Given the description of an element on the screen output the (x, y) to click on. 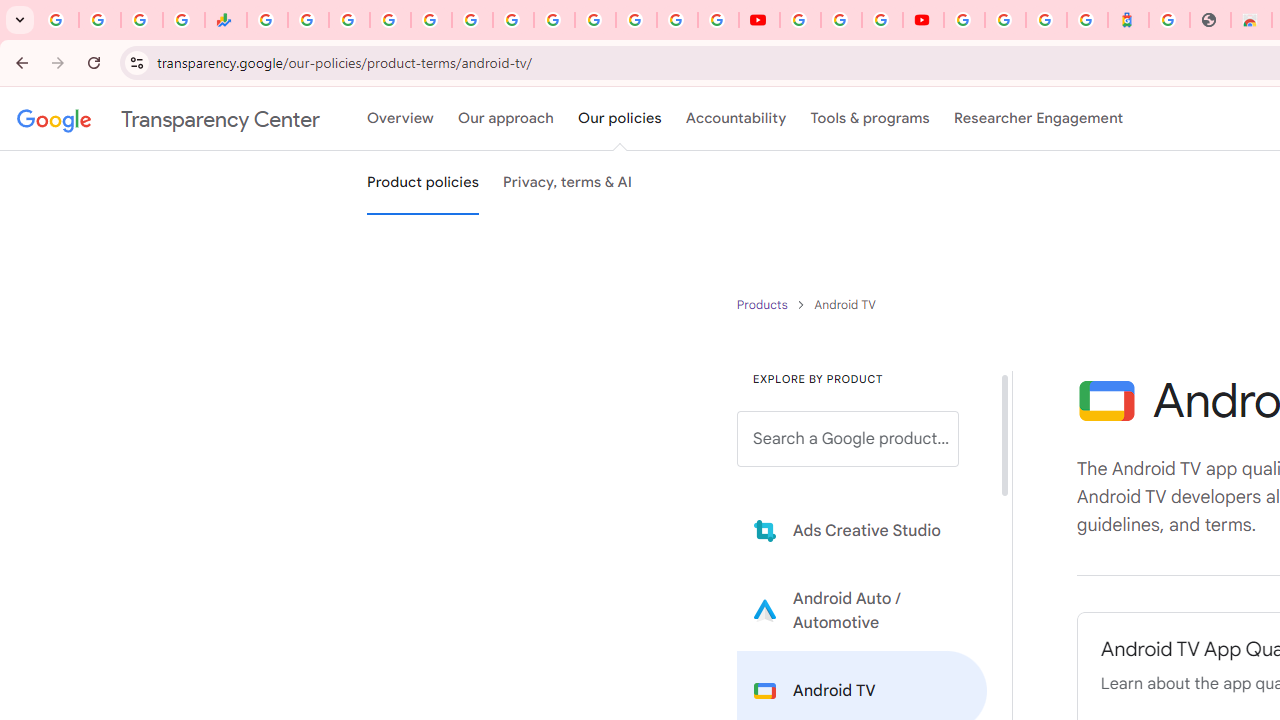
Create your Google Account (881, 20)
Privacy, terms & AI (568, 183)
Sign in - Google Accounts (1005, 20)
Sign in - Google Accounts (389, 20)
Accountability (735, 119)
Atour Hotel - Google hotels (1128, 20)
Researcher Engagement (1038, 119)
Android TV Policies and Guidelines - Transparency Center (512, 20)
Sign in - Google Accounts (964, 20)
Product policies (763, 304)
